Given the description of an element on the screen output the (x, y) to click on. 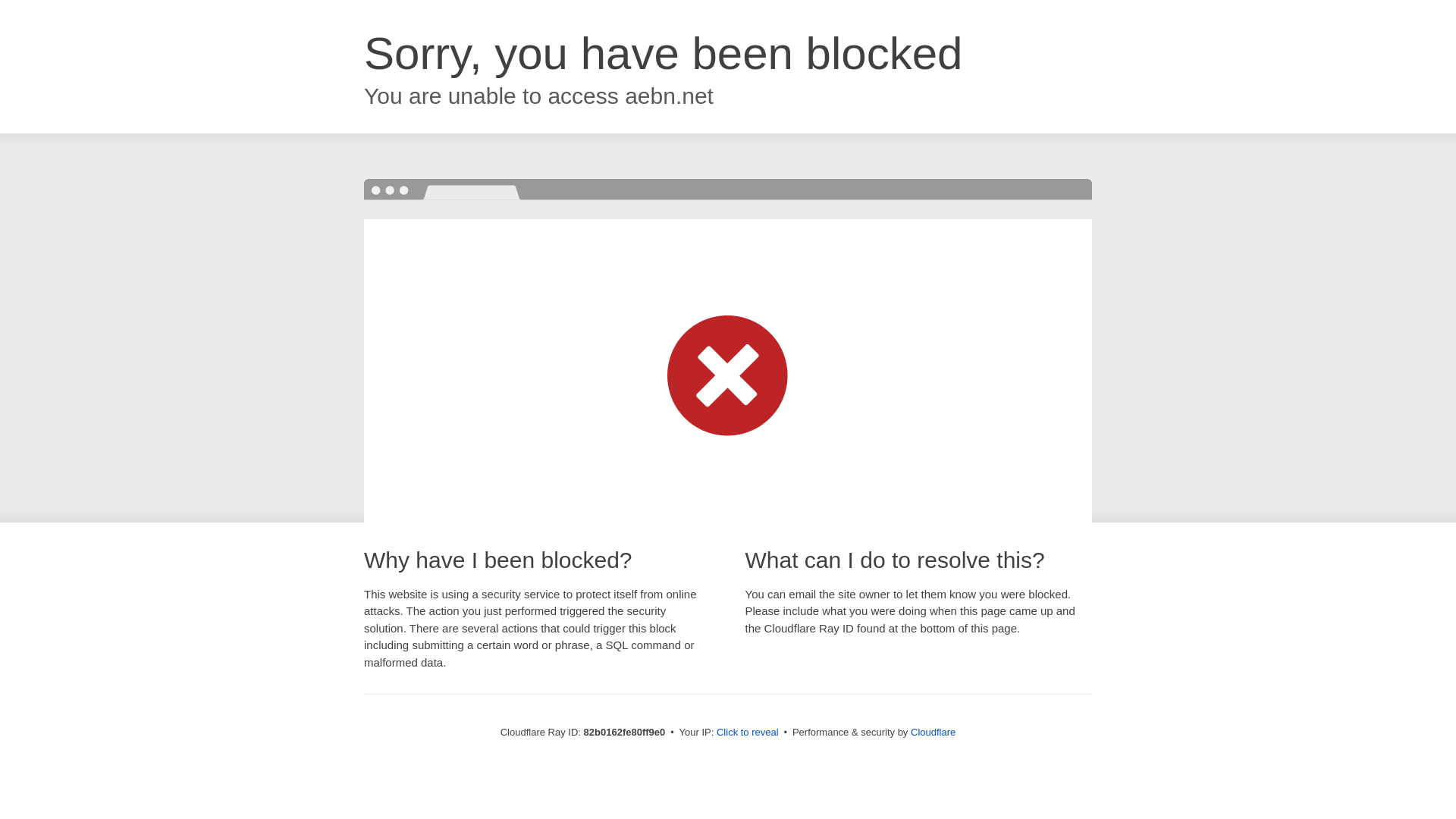
Click to reveal Element type: text (747, 732)
Cloudflare Element type: text (932, 731)
